Given the description of an element on the screen output the (x, y) to click on. 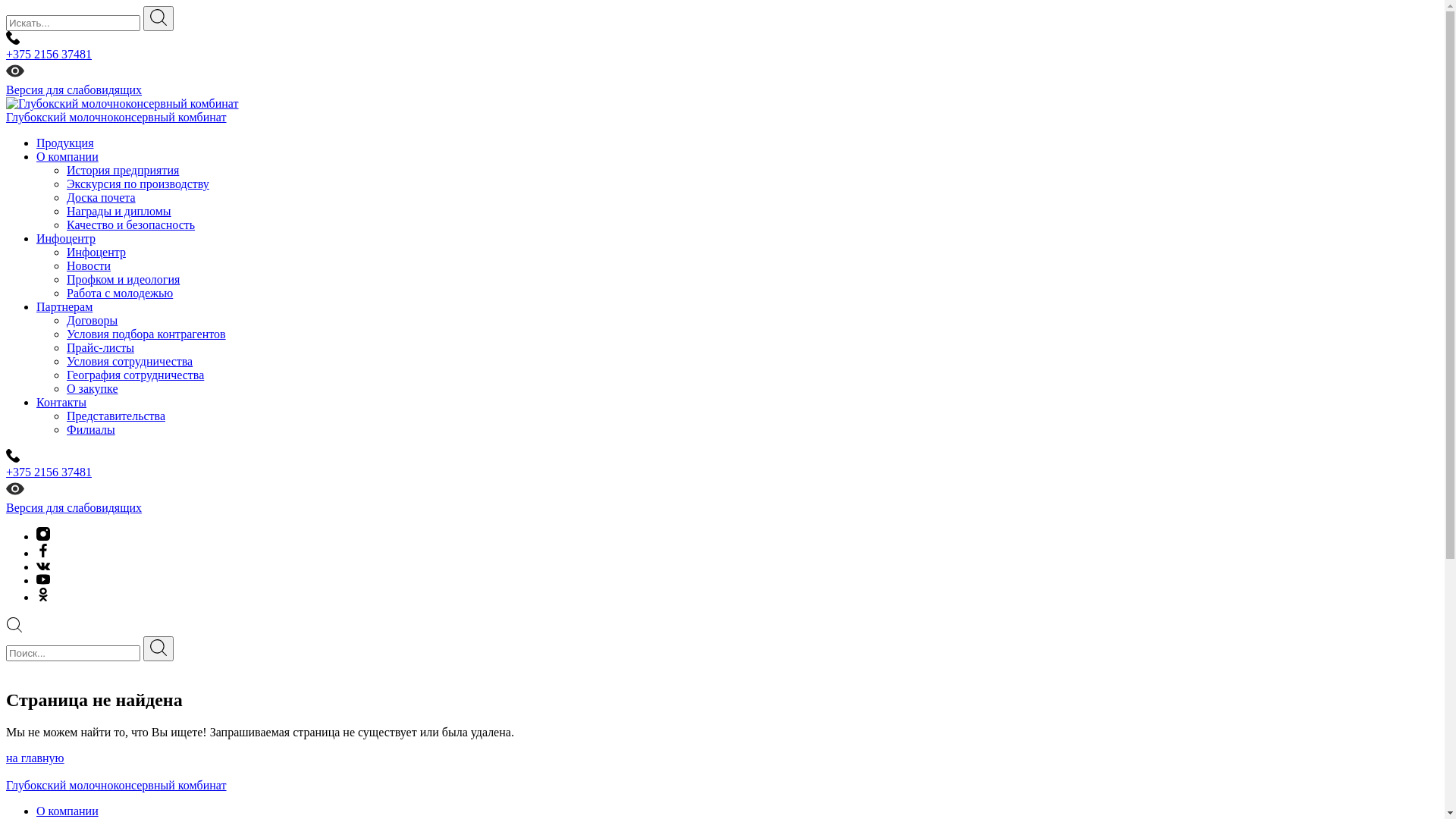
+375 2156 37481 Element type: text (722, 463)
+375 2156 37481 Element type: text (722, 45)
